Given the description of an element on the screen output the (x, y) to click on. 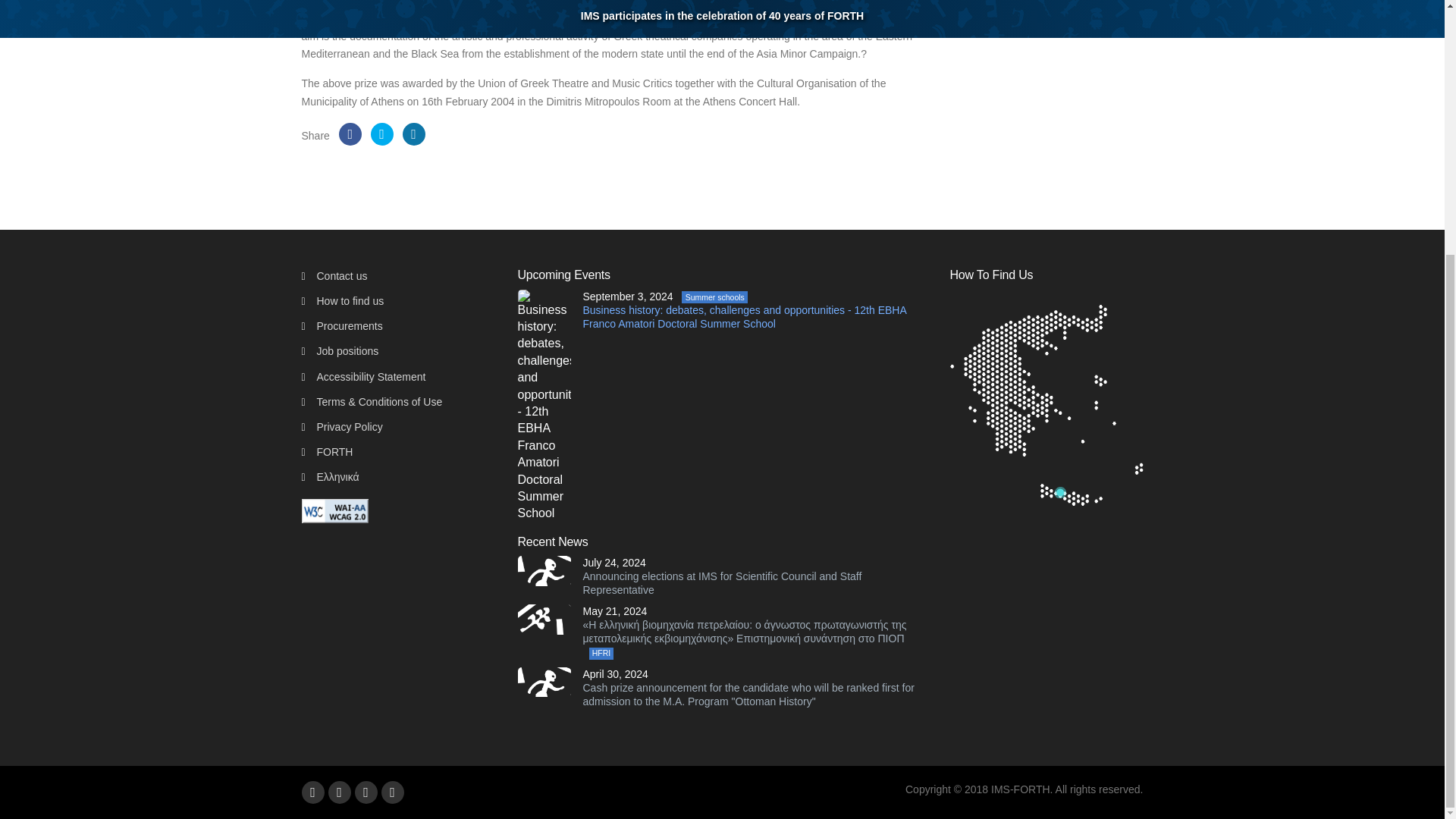
please share on linkedin (414, 133)
Link to the IMS Youtube channel (312, 792)
Explanation of WCAG 2 Level AA conformance (334, 509)
Link to the IMS Instagram (366, 792)
Link to the IMS Facebook page (338, 792)
please share on twitter (382, 133)
please share on facebook (350, 133)
Link to the IMS Twitter (391, 792)
